Given the description of an element on the screen output the (x, y) to click on. 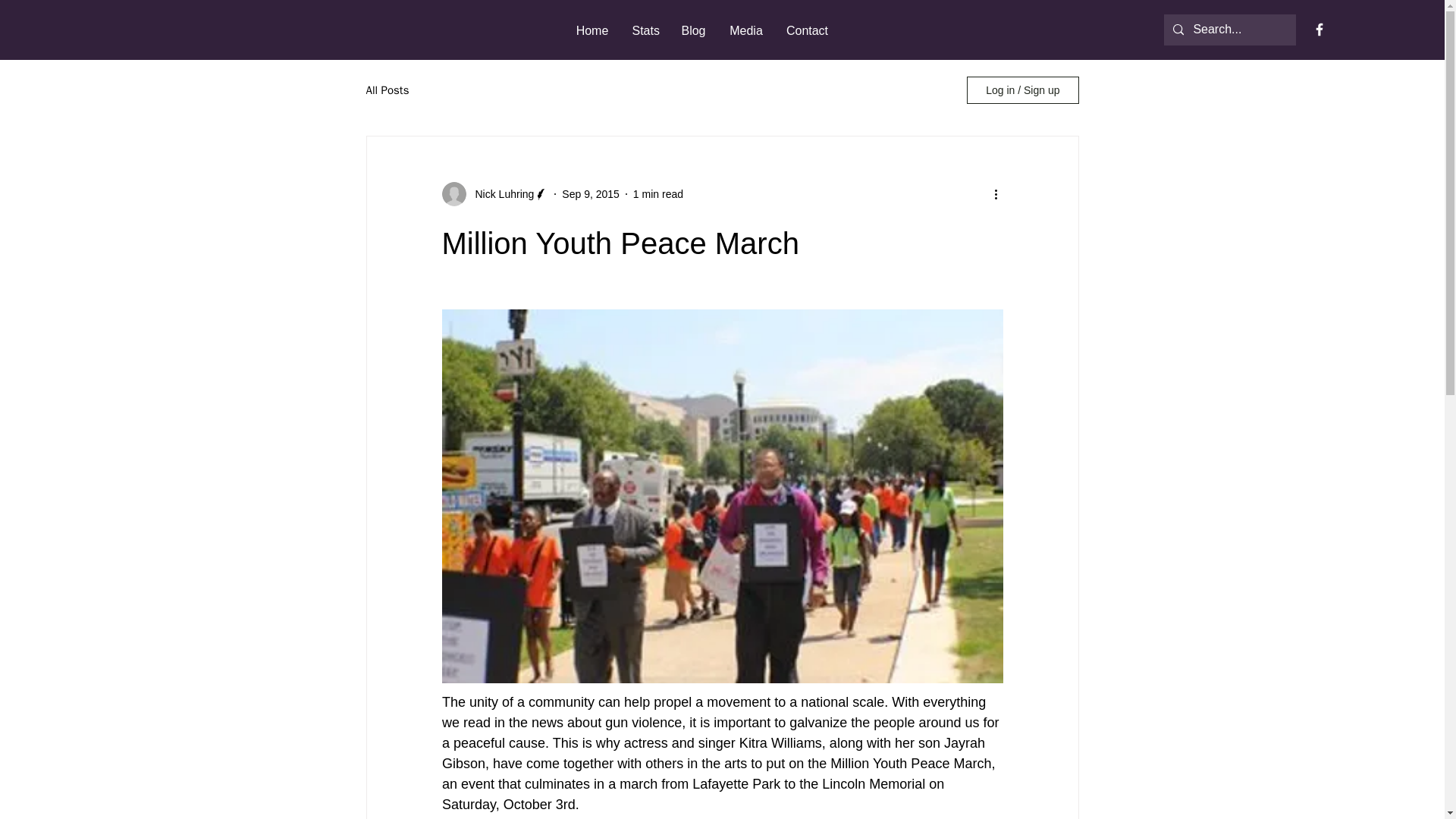
Million Youth Peace March (910, 763)
Blog (692, 30)
Media (745, 30)
Nick Luhring (499, 194)
Contact (807, 30)
Home (592, 30)
Sep 9, 2015 (591, 193)
1 min read (657, 193)
All Posts (387, 90)
Stats (644, 30)
